Given the description of an element on the screen output the (x, y) to click on. 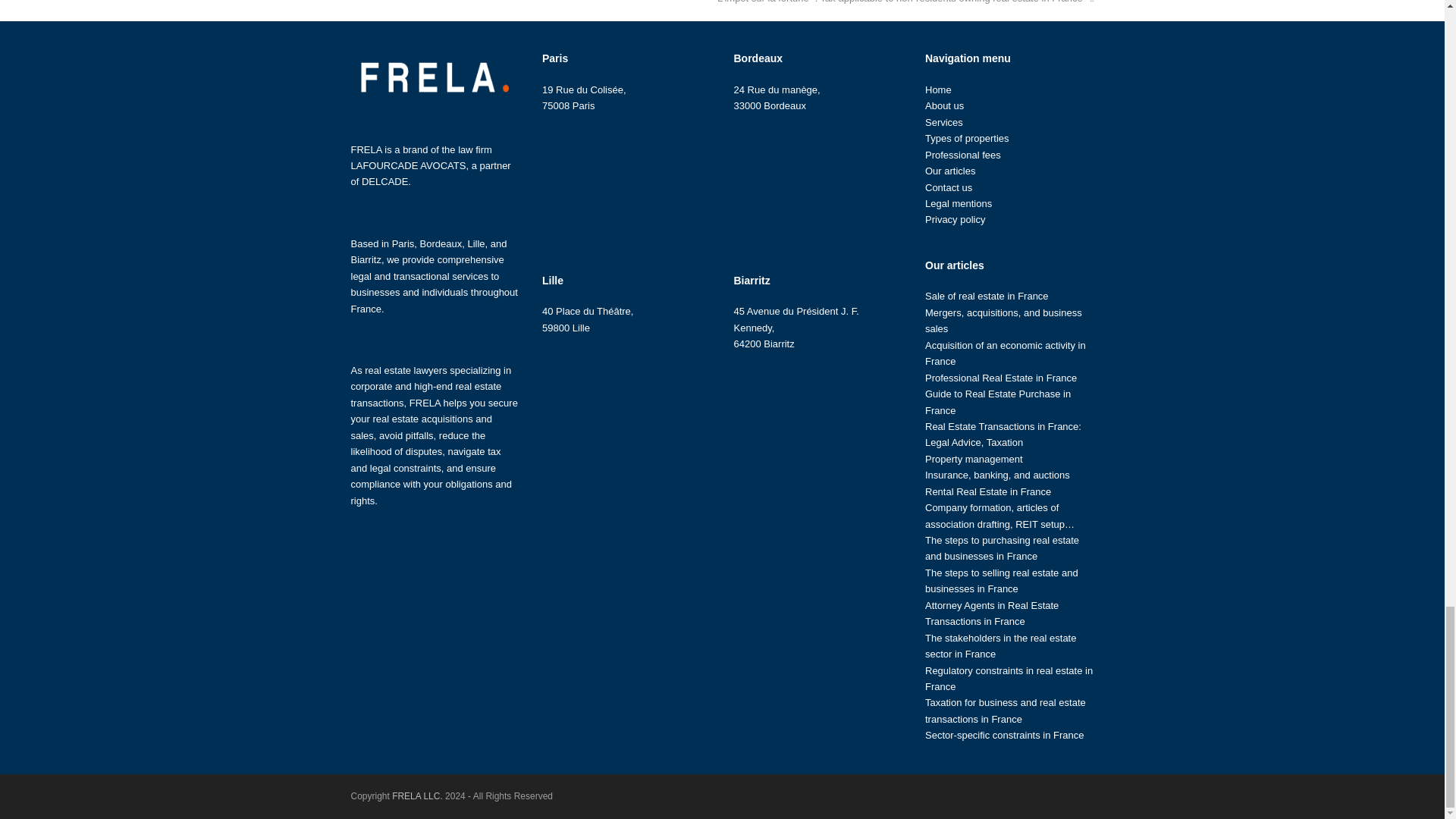
Google Map (626, 408)
Google Map (626, 186)
Google Map (817, 186)
Google Map (817, 424)
